Given the description of an element on the screen output the (x, y) to click on. 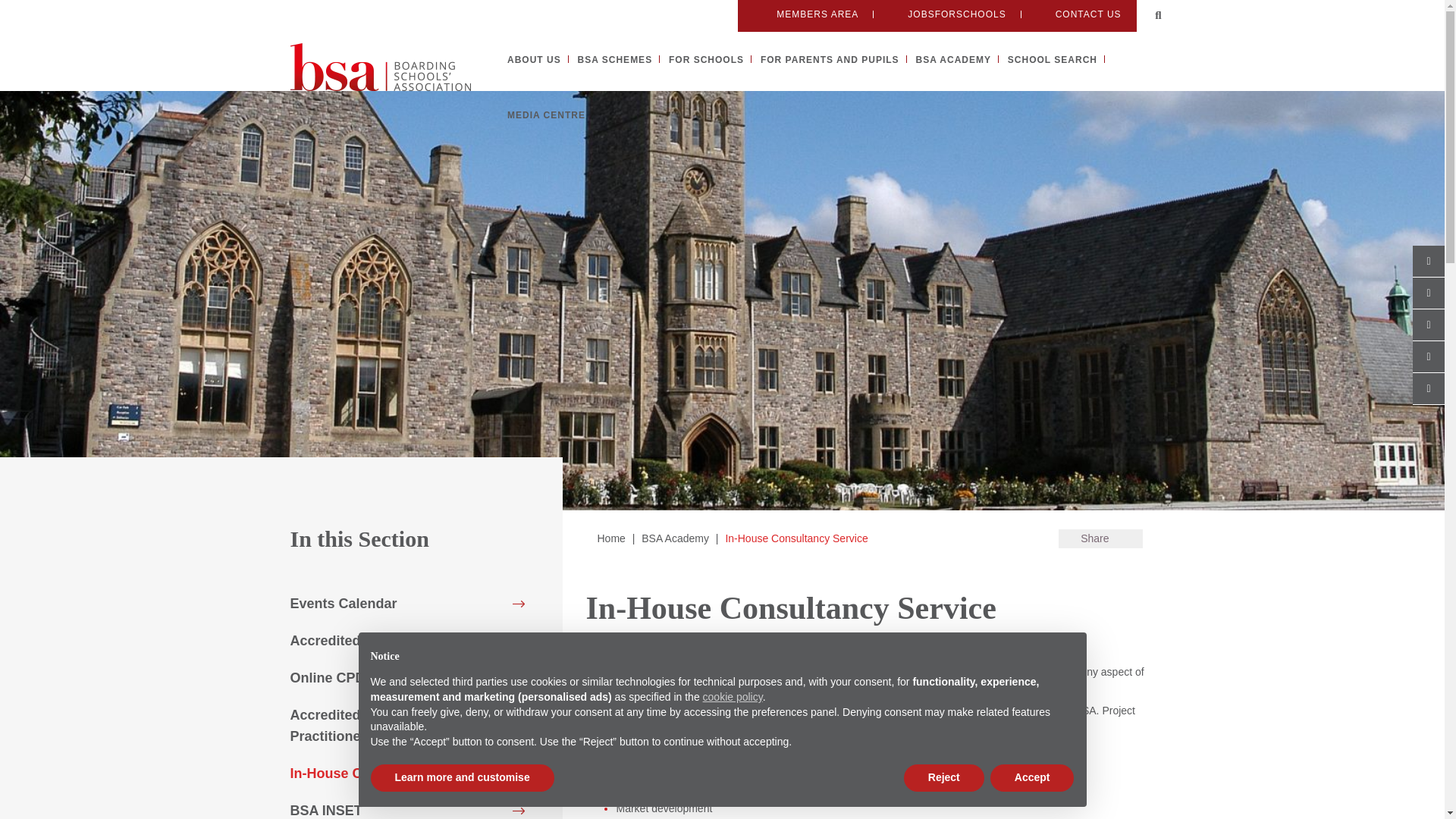
ABOUT US (533, 59)
BSA SCHEMES (615, 59)
FOR SCHOOLS (706, 59)
JOBSFORSCHOOLS (947, 14)
Go to BSA Academy. (675, 538)
CONTACT US (1078, 14)
Go to The Boarding Schools' Association. (610, 538)
FOR PARENTS AND PUPILS (829, 59)
